Given the description of an element on the screen output the (x, y) to click on. 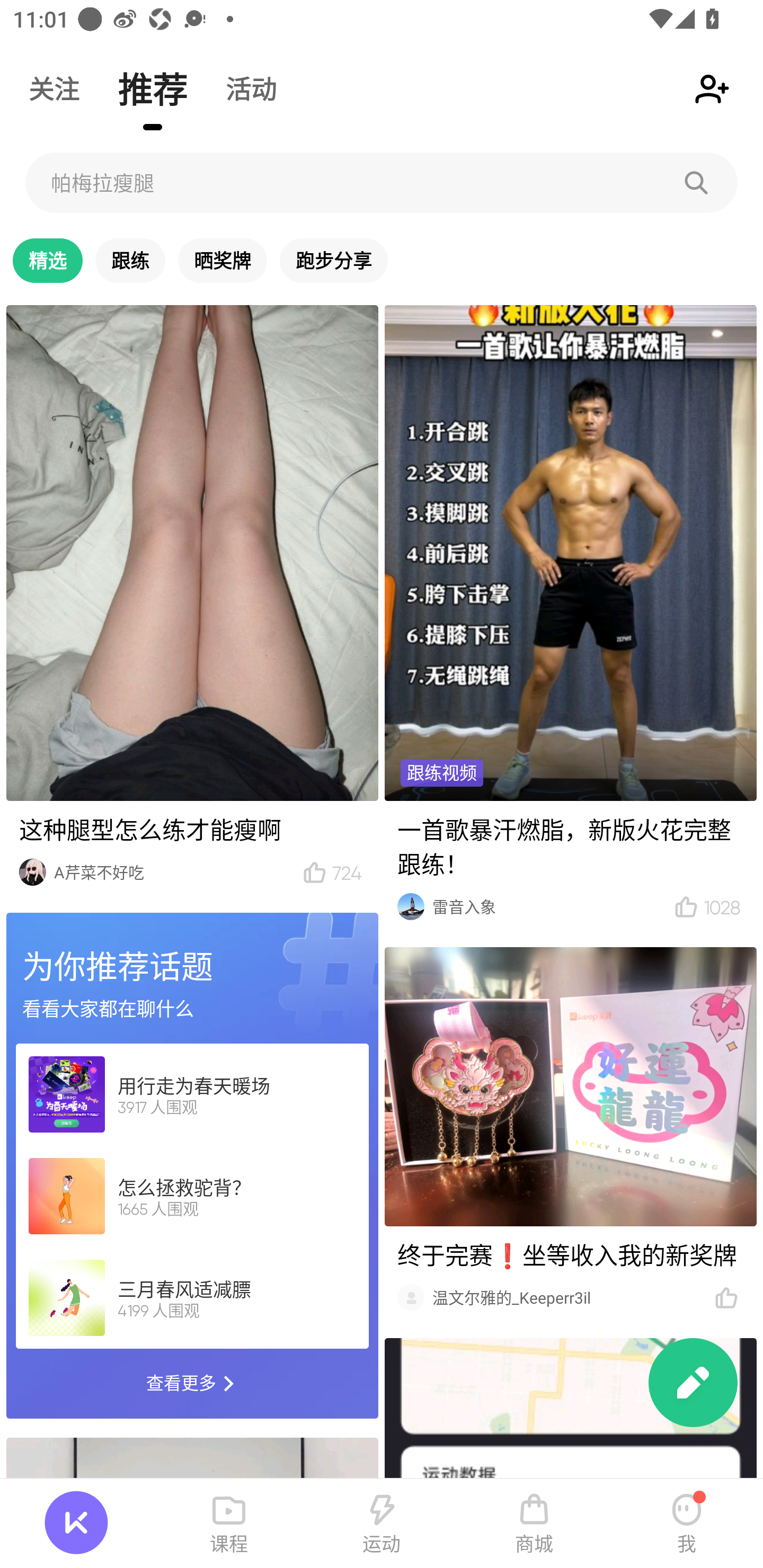
关注 (53, 88)
推荐 (152, 88)
活动 (251, 88)
帕梅拉瘦腿 (381, 182)
精选 (47, 260)
跟练 (130, 260)
晒奖牌 (222, 260)
跑步分享 (333, 260)
A芹菜不好吃 724  (192, 599)
跟练视频 雷音入象 1028  (570, 616)
A芹菜不好吃 (167, 871)
雷音入象 (542, 906)
温文尔雅的_Keeperr3il (570, 1132)
用行走为春天暖场 3917 人围观 (192, 1094)
怎么拯救驼背？ 1665 人围观 (192, 1195)
三月春风适减膘 4199 人围观 (192, 1297)
温文尔雅的_Keeperr3il (562, 1297)
课程 (228, 1523)
运动 (381, 1523)
商城 (533, 1523)
我 (686, 1523)
